Given the description of an element on the screen output the (x, y) to click on. 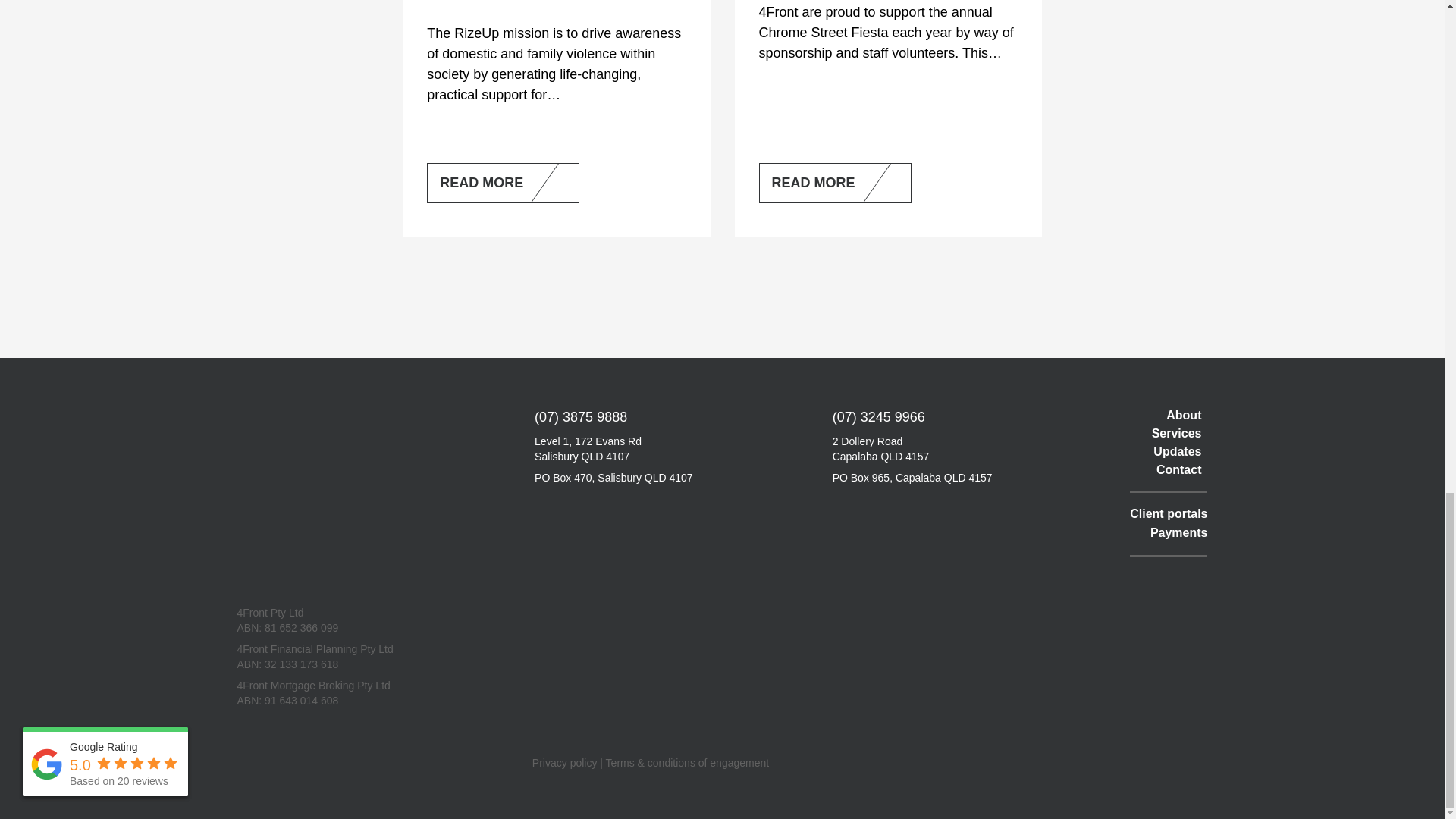
READ MORE (502, 182)
